Given the description of an element on the screen output the (x, y) to click on. 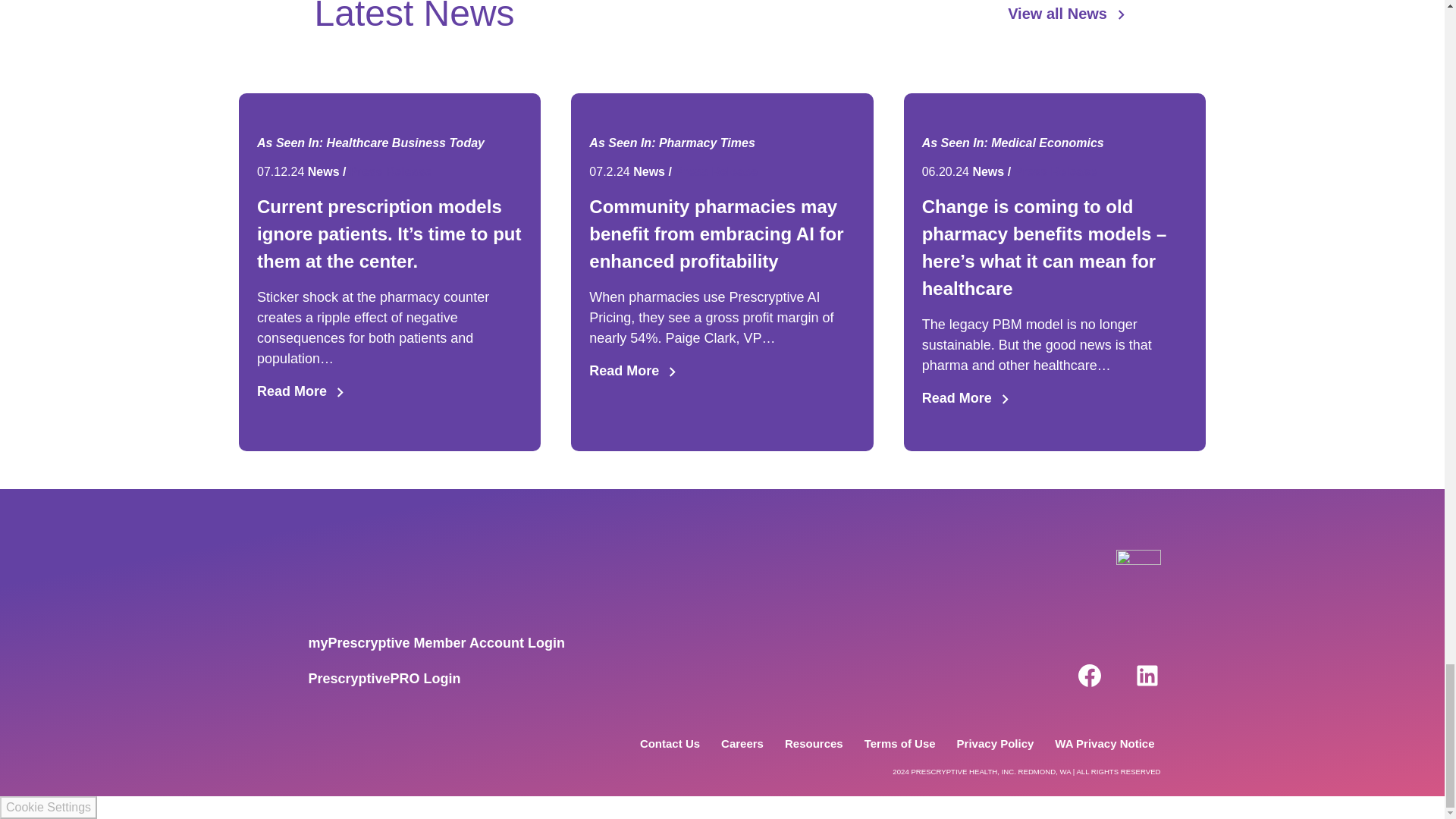
Read More (389, 391)
View all News (1068, 13)
Press Release (390, 171)
